Given the description of an element on the screen output the (x, y) to click on. 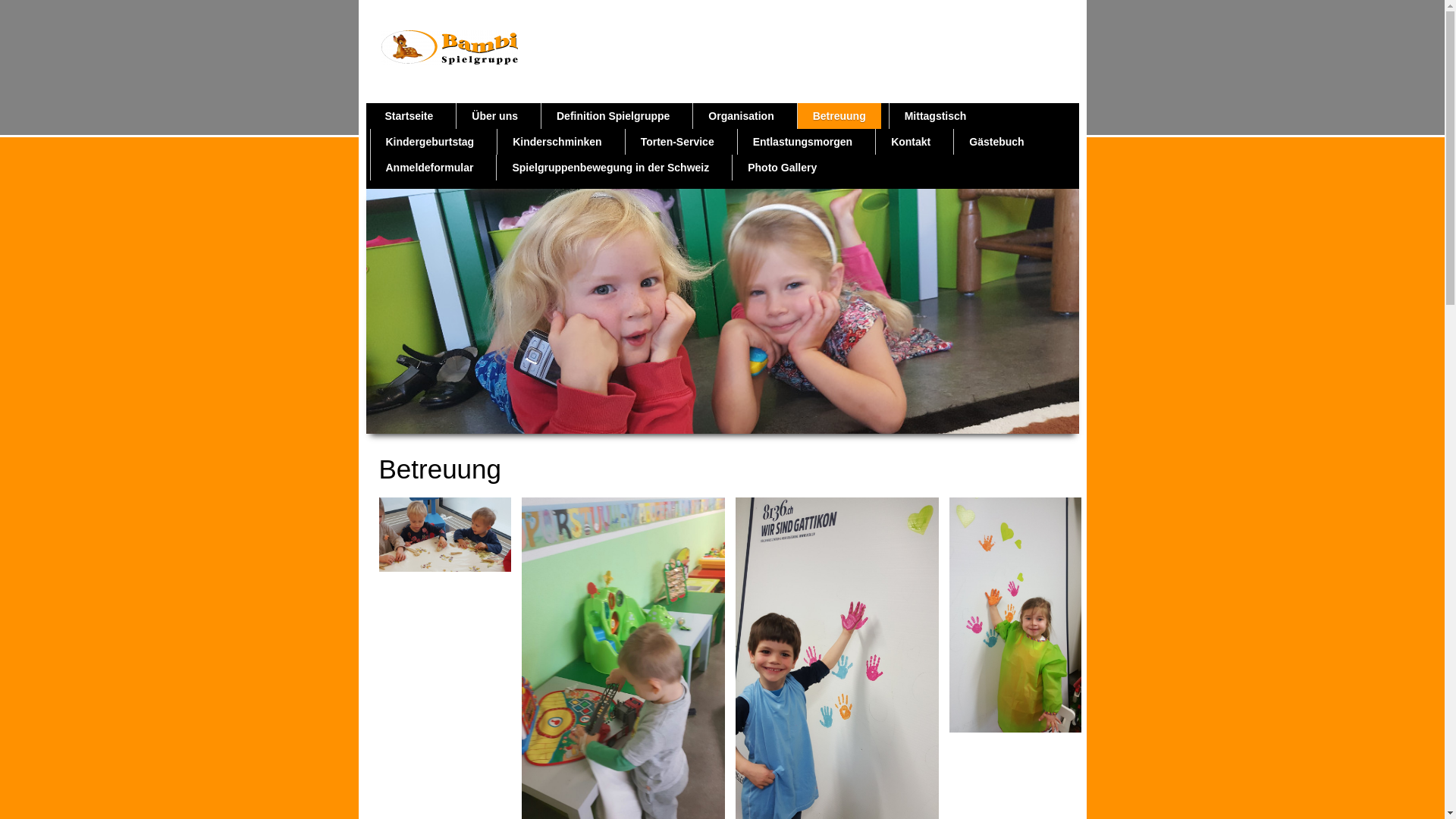
Entlastungsmorgen Element type: text (802, 141)
Anmeldeformular Element type: text (429, 167)
Definition Spielgruppe Element type: text (612, 115)
Kontakt Element type: text (910, 141)
Kindergeburtstag Element type: text (429, 141)
Startseite Element type: text (409, 115)
Mittagstisch Element type: text (935, 115)
Kinderschminken Element type: text (556, 141)
Organisation Element type: text (740, 115)
Betreuung Element type: text (839, 115)
Photo Gallery Element type: text (781, 167)
Spielgruppenbewegung in der Schweiz Element type: text (610, 167)
Torten-Service Element type: text (677, 141)
